Given the description of an element on the screen output the (x, y) to click on. 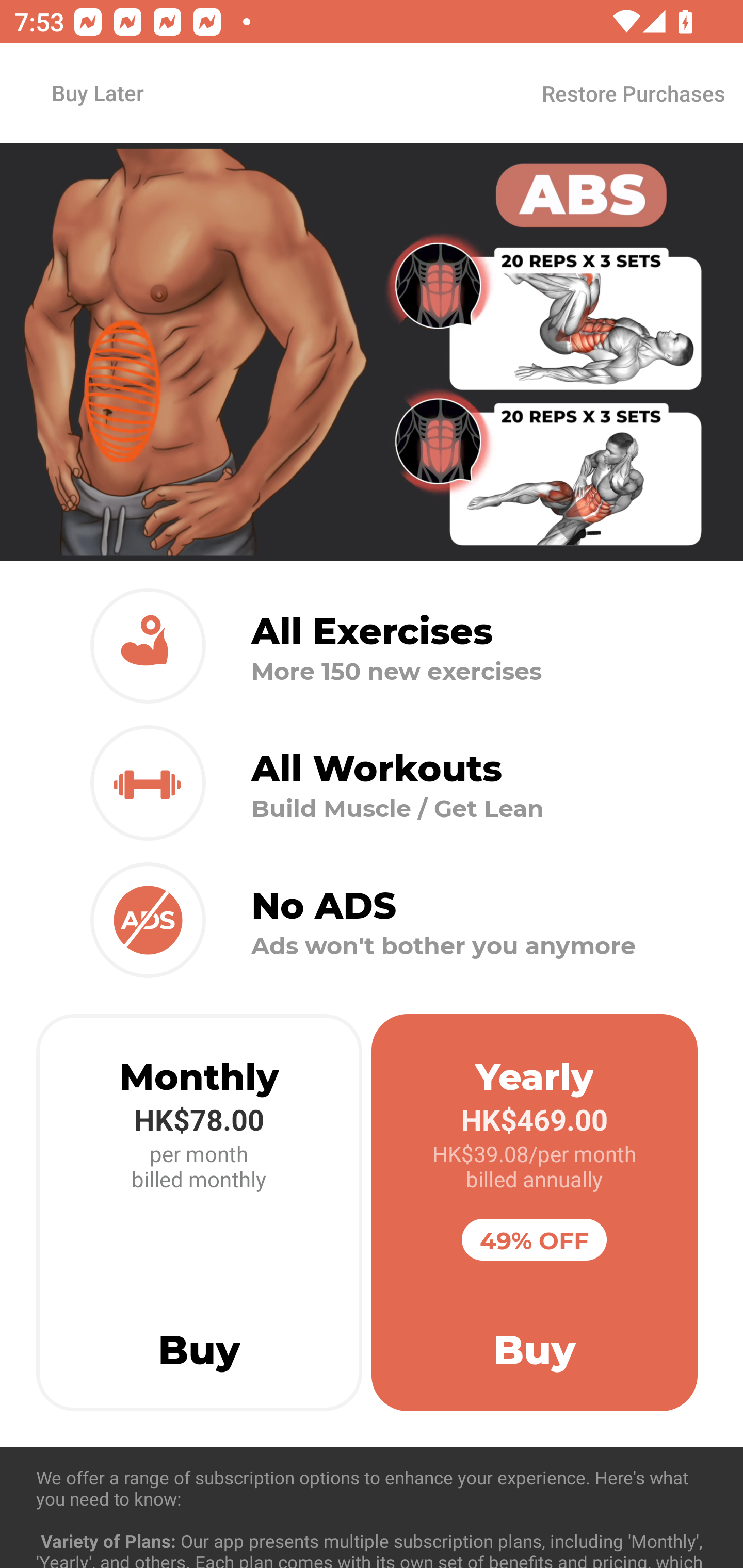
Restore Purchases (632, 92)
Buy Later (96, 92)
Monthly HK$78.00 per month
billed monthly Buy (199, 1212)
